Given the description of an element on the screen output the (x, y) to click on. 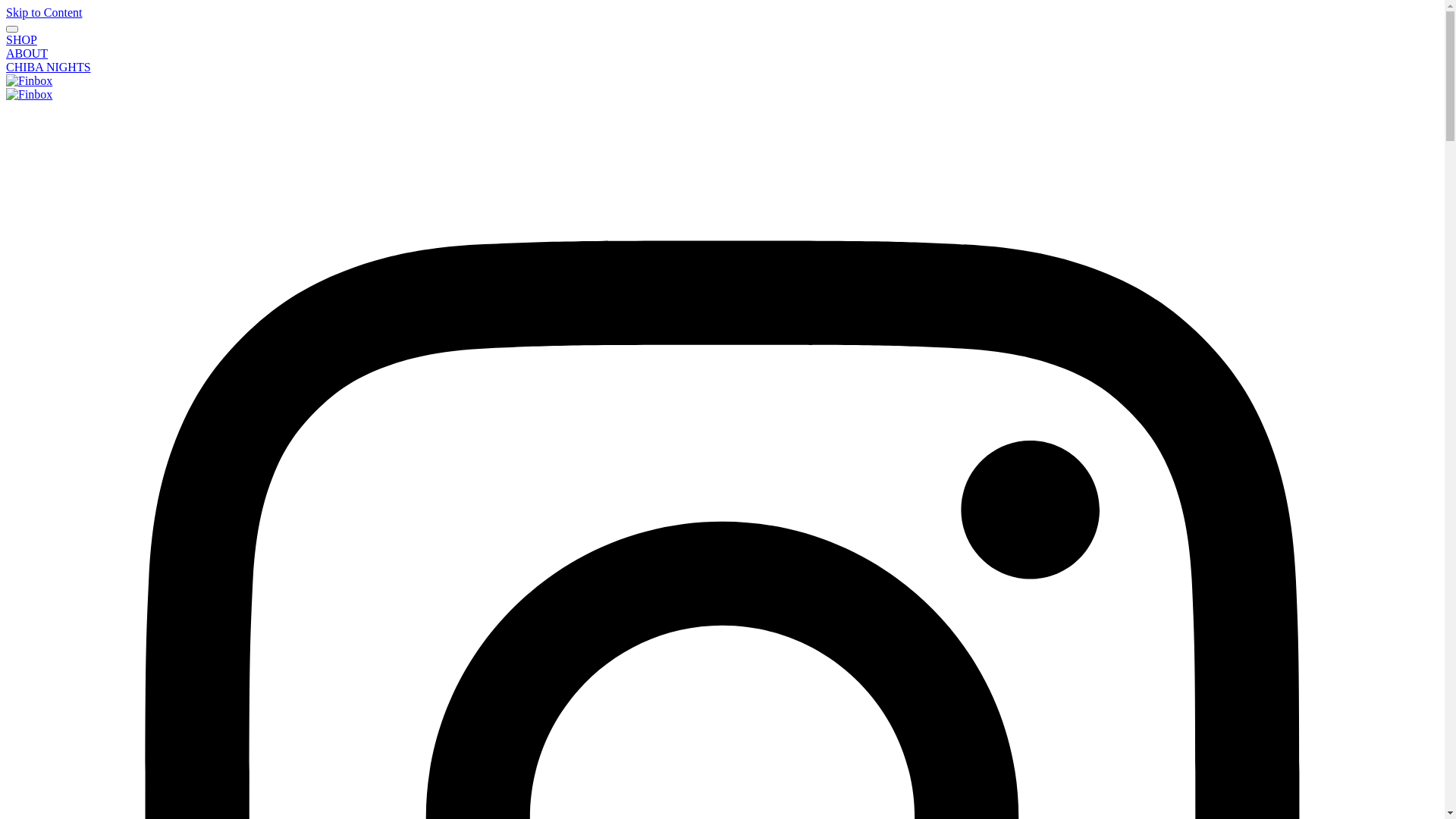
CHIBA NIGHTS Element type: text (48, 66)
SHOP Element type: text (21, 39)
ABOUT Element type: text (26, 53)
Skip to Content Element type: text (43, 12)
